Given the description of an element on the screen output the (x, y) to click on. 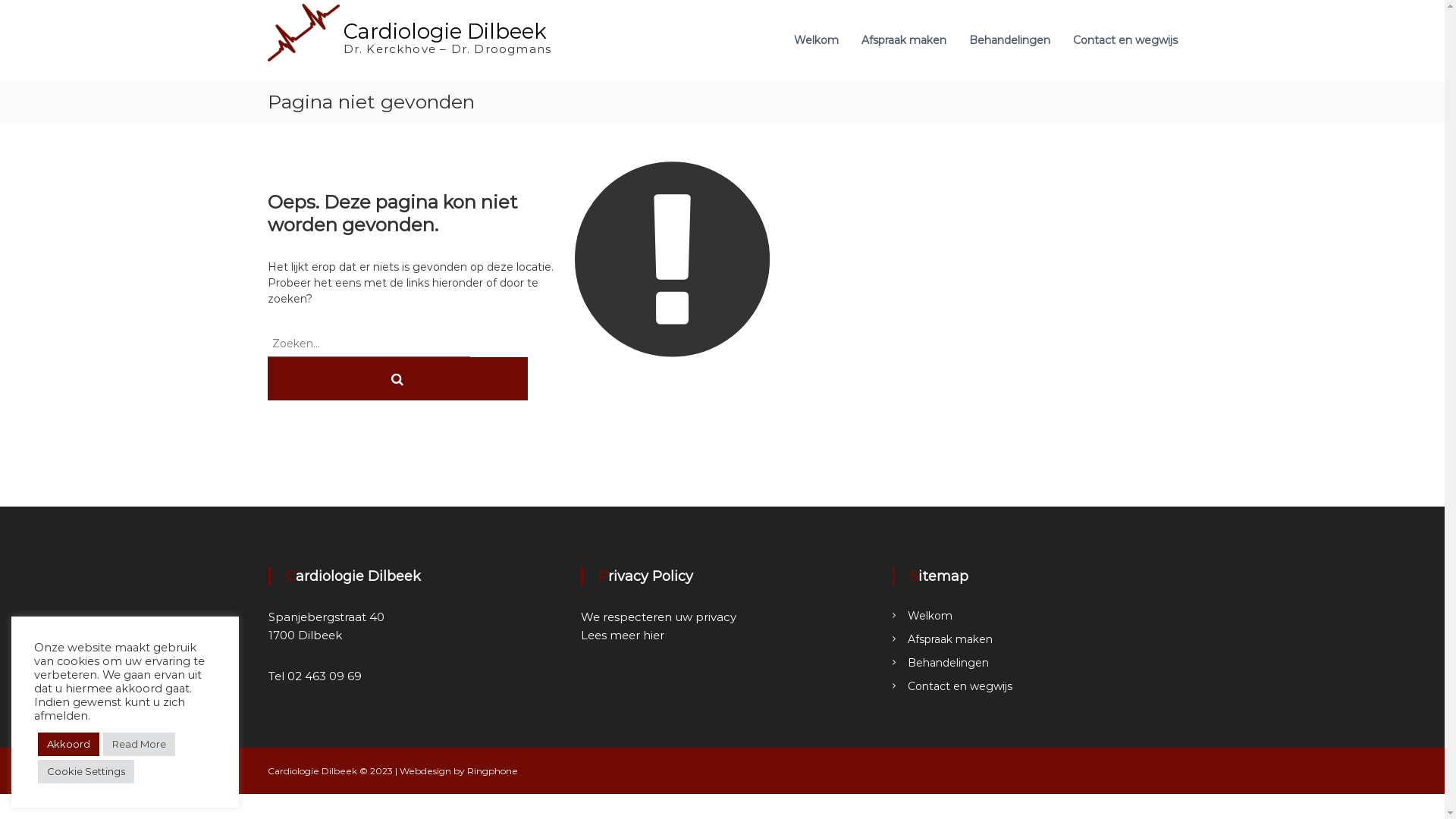
Cardiologie Dilbeek Element type: text (444, 30)
Zoeken Element type: text (397, 378)
Contact en wegwijs Element type: text (959, 686)
Ringphone Element type: text (492, 770)
hier Element type: text (653, 634)
Behandelingen Element type: text (947, 662)
Behandelingen Element type: text (1009, 40)
Cardiologie Dilbeek Element type: text (311, 770)
Contact en wegwijs Element type: text (1124, 40)
Welkom Element type: text (815, 40)
Welkom Element type: text (929, 615)
Akkoord Element type: text (68, 744)
Read More Element type: text (139, 744)
Cookie Settings Element type: text (85, 771)
Afspraak maken Element type: text (949, 639)
Afspraak maken Element type: text (903, 40)
